Given the description of an element on the screen output the (x, y) to click on. 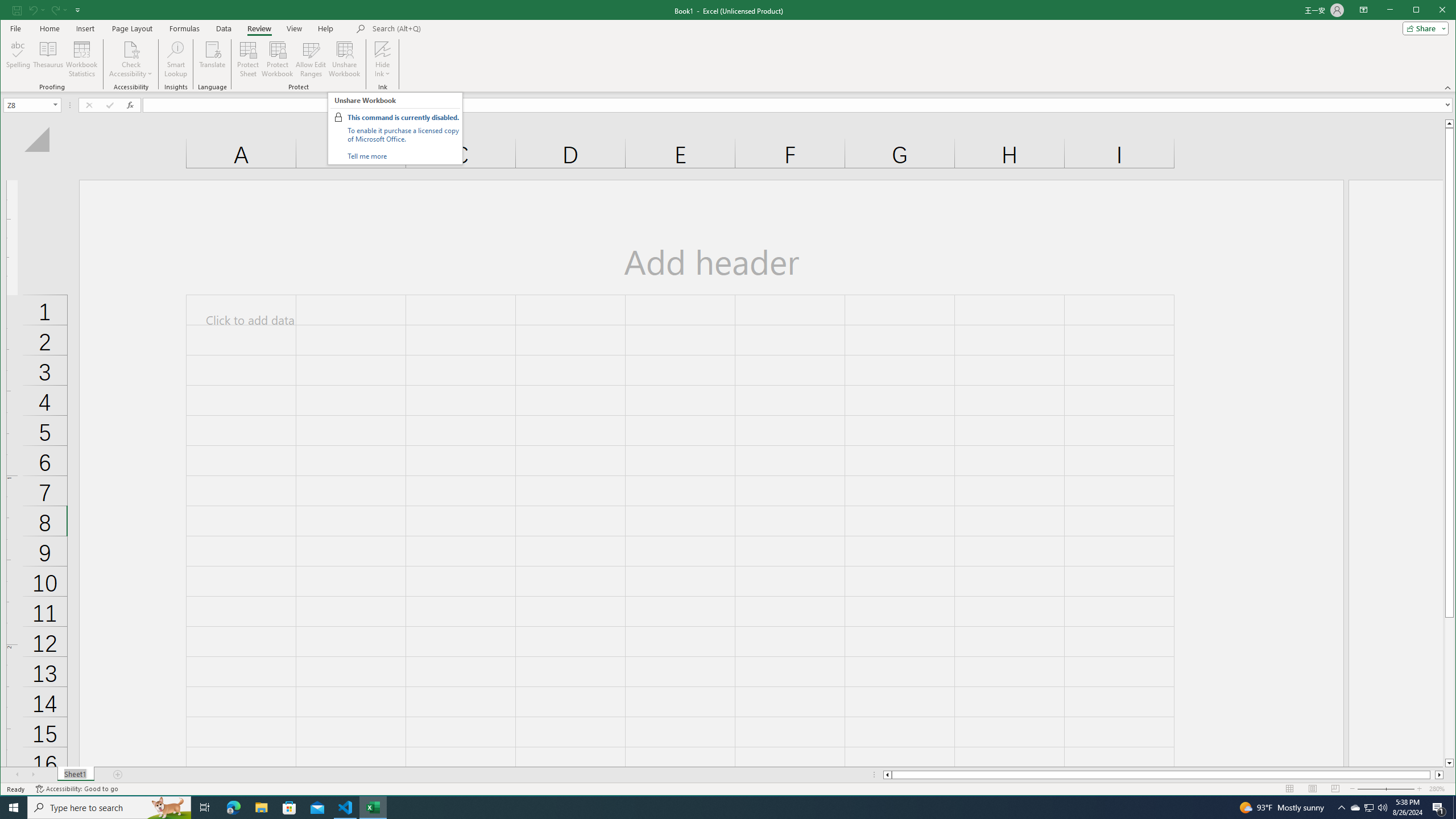
Sheet Tab (75, 774)
Translate (212, 59)
Unshare Workbook (344, 59)
Microsoft Edge (1355, 807)
